Given the description of an element on the screen output the (x, y) to click on. 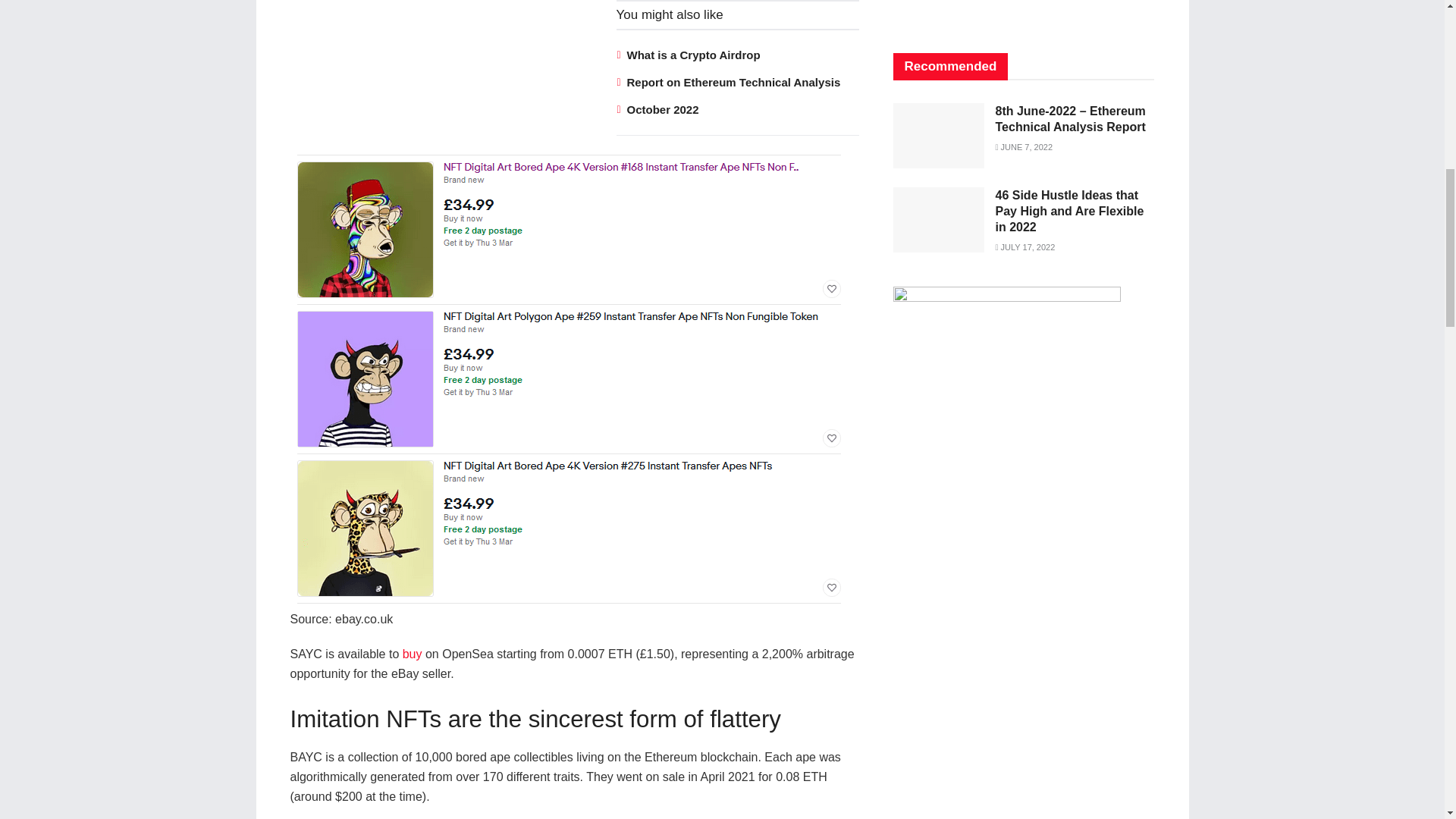
buy (412, 653)
October 2022 (662, 109)
Report on Ethereum Technical Analysis (733, 82)
What is a Crypto Airdrop (693, 54)
